Given the description of an element on the screen output the (x, y) to click on. 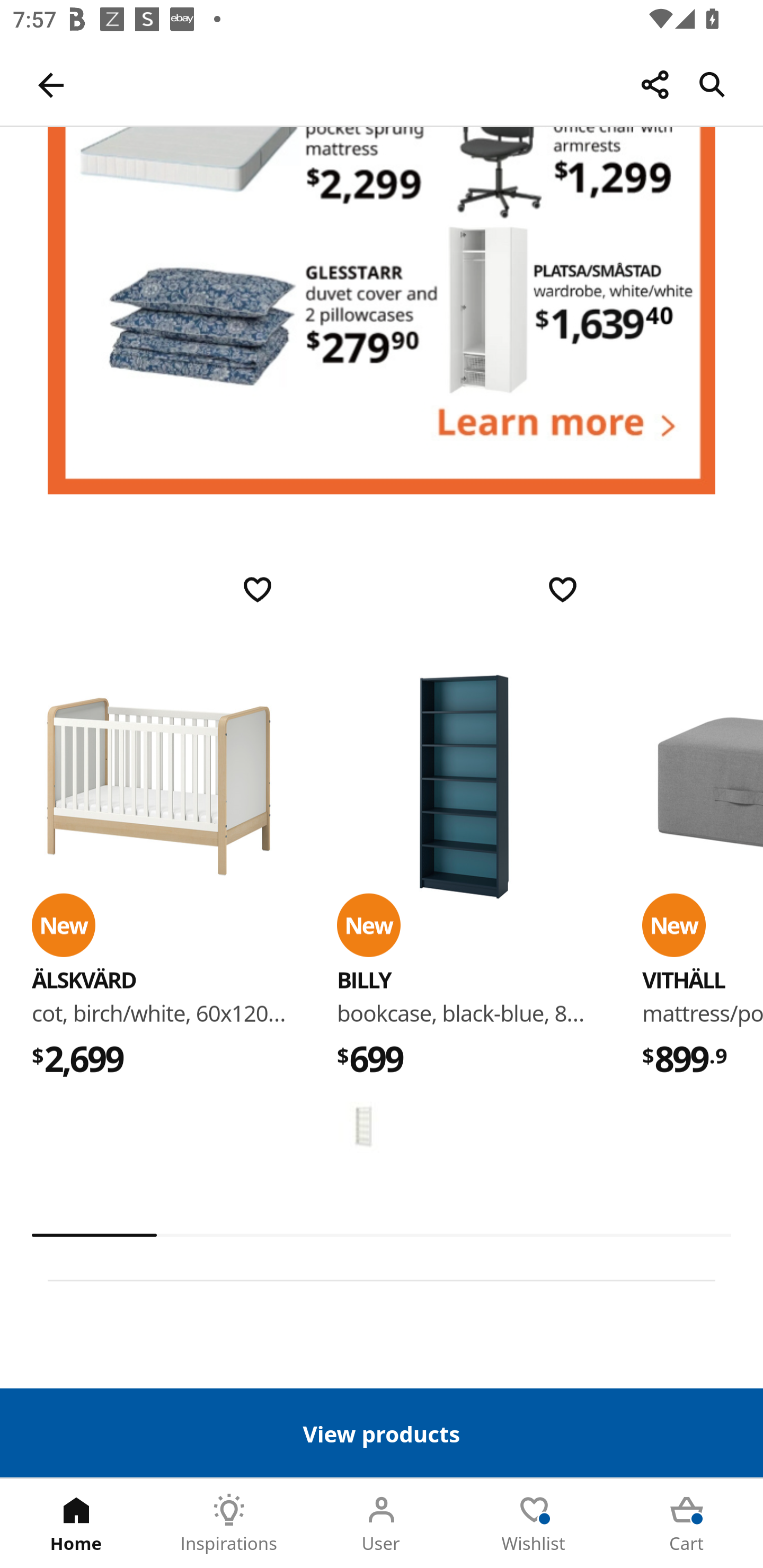
newitems#shop-now (381, 311)
ÄLSKVÄRD (159, 787)
BILLY (464, 787)
ÄLSKVÄRD (84, 979)
BILLY (363, 979)
VITHÄLL (683, 979)
BILLY (363, 1127)
0.0 (381, 1235)
View products (381, 1432)
Home
Tab 1 of 5 (76, 1522)
Inspirations
Tab 2 of 5 (228, 1522)
User
Tab 3 of 5 (381, 1522)
Wishlist
Tab 4 of 5 (533, 1522)
Cart
Tab 5 of 5 (686, 1522)
